Given the description of an element on the screen output the (x, y) to click on. 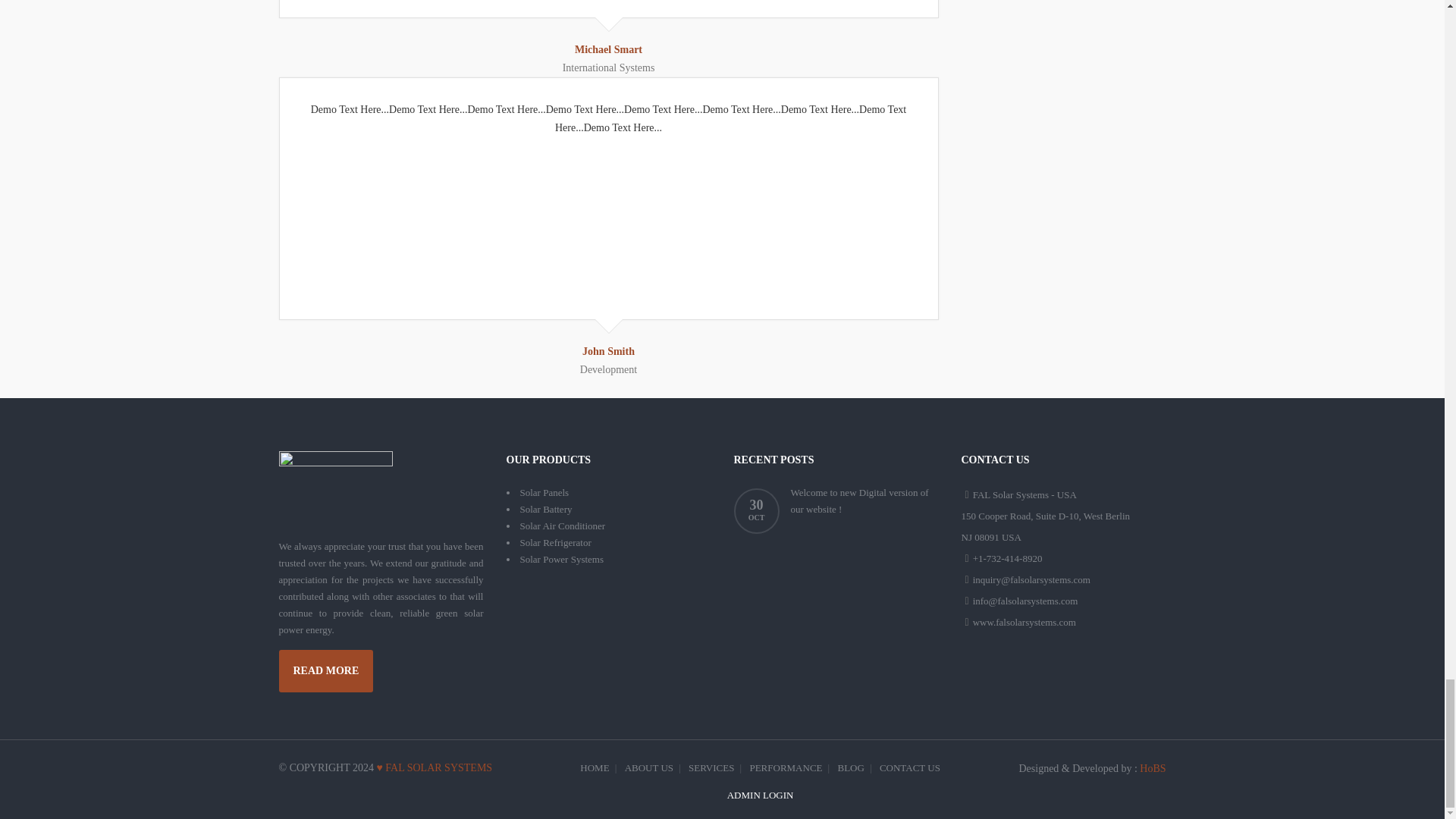
Solar Air Conditioner (562, 525)
Solar Panels (544, 491)
READ MORE (326, 671)
Solar Battery (545, 509)
